Given the description of an element on the screen output the (x, y) to click on. 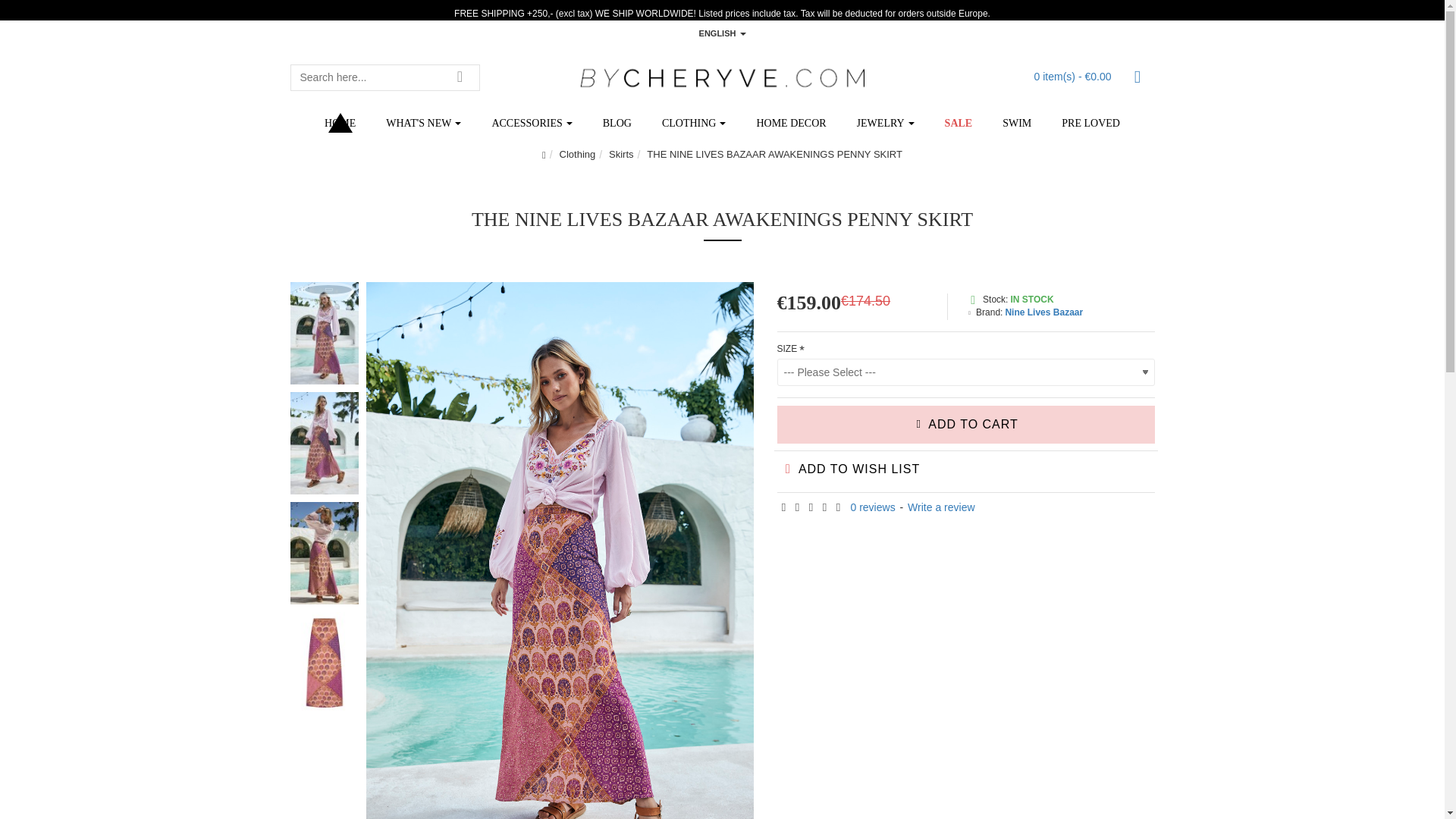
Clothing (577, 155)
Write a review (940, 507)
THE NINE LIVES BAZAAR AWAKENINGS PENNY SKIRT (774, 155)
Skirts (620, 155)
ACCESSORIES (531, 123)
BLOG (616, 123)
ADD TO CART (965, 424)
JEWELRY (885, 123)
0 reviews (872, 507)
HOME DECOR (790, 123)
